Given the description of an element on the screen output the (x, y) to click on. 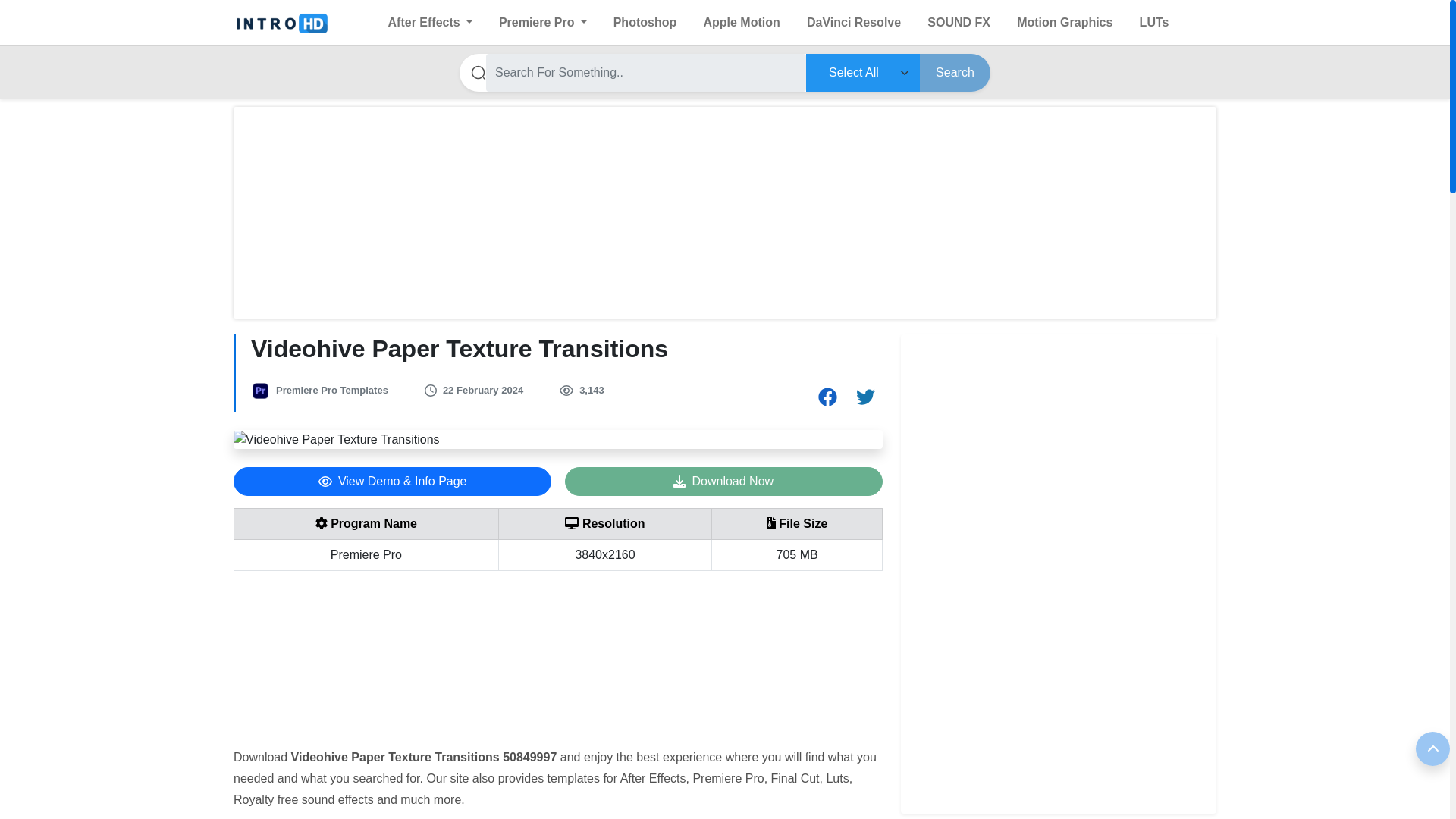
After Effects (429, 22)
Search (955, 72)
SOUND FX (958, 22)
Premiere Pro Templates (332, 390)
Photoshop (644, 22)
DaVinci Resolve (853, 22)
Download Now (723, 481)
Premiere Pro Templates (332, 390)
Apple Motion (740, 22)
Premiere Pro (542, 22)
Motion Graphics (1064, 22)
